Given the description of an element on the screen output the (x, y) to click on. 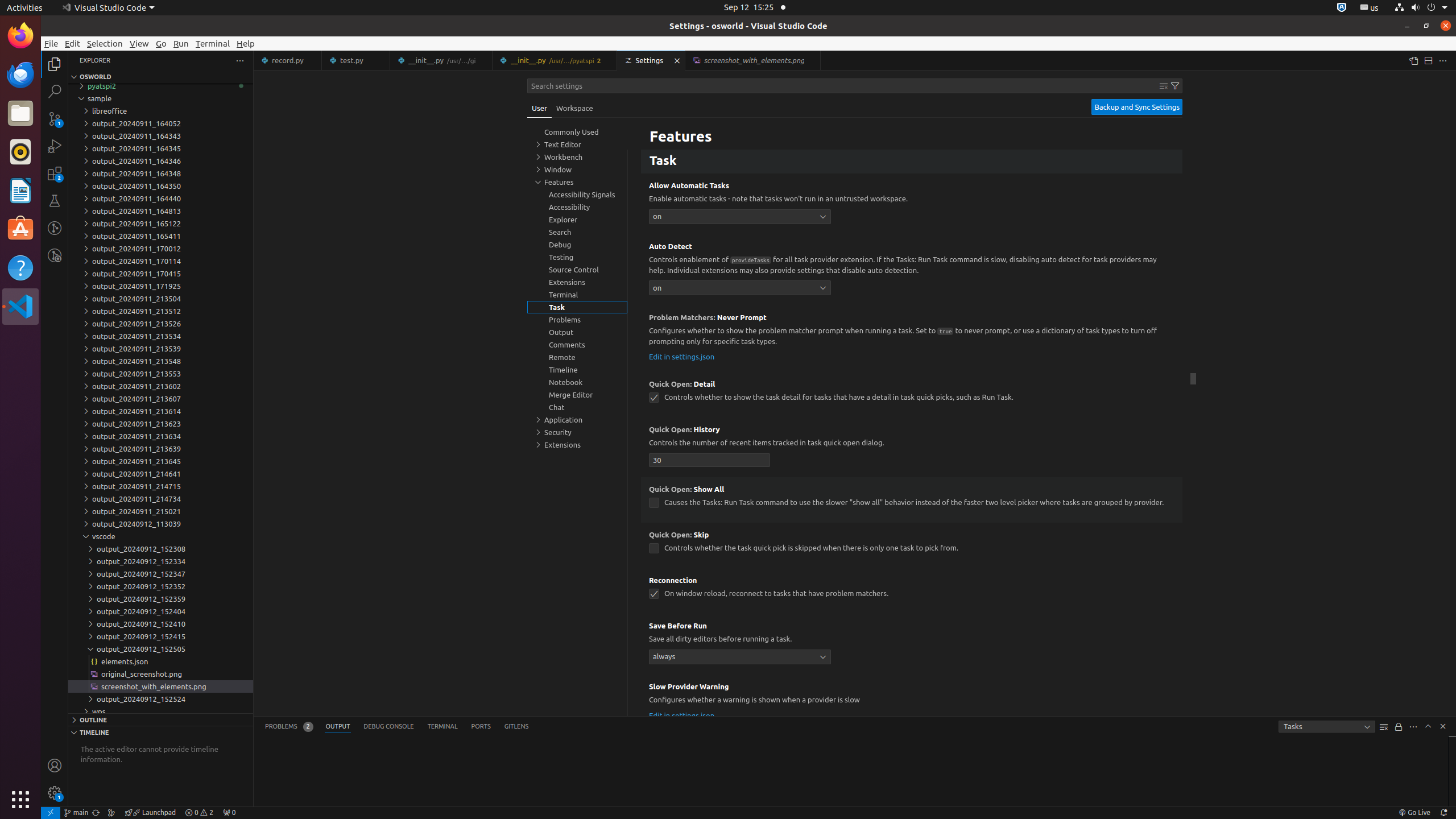
elements.json Element type: tree-item (160, 661)
Turn Auto Scrolling Off Element type: check-box (1398, 726)
Commonly Used, group Element type: tree-item (577, 131)
Timeline, group Element type: tree-item (577, 369)
Clear Settings Search Input Element type: push-button (1163, 85)
